Given the description of an element on the screen output the (x, y) to click on. 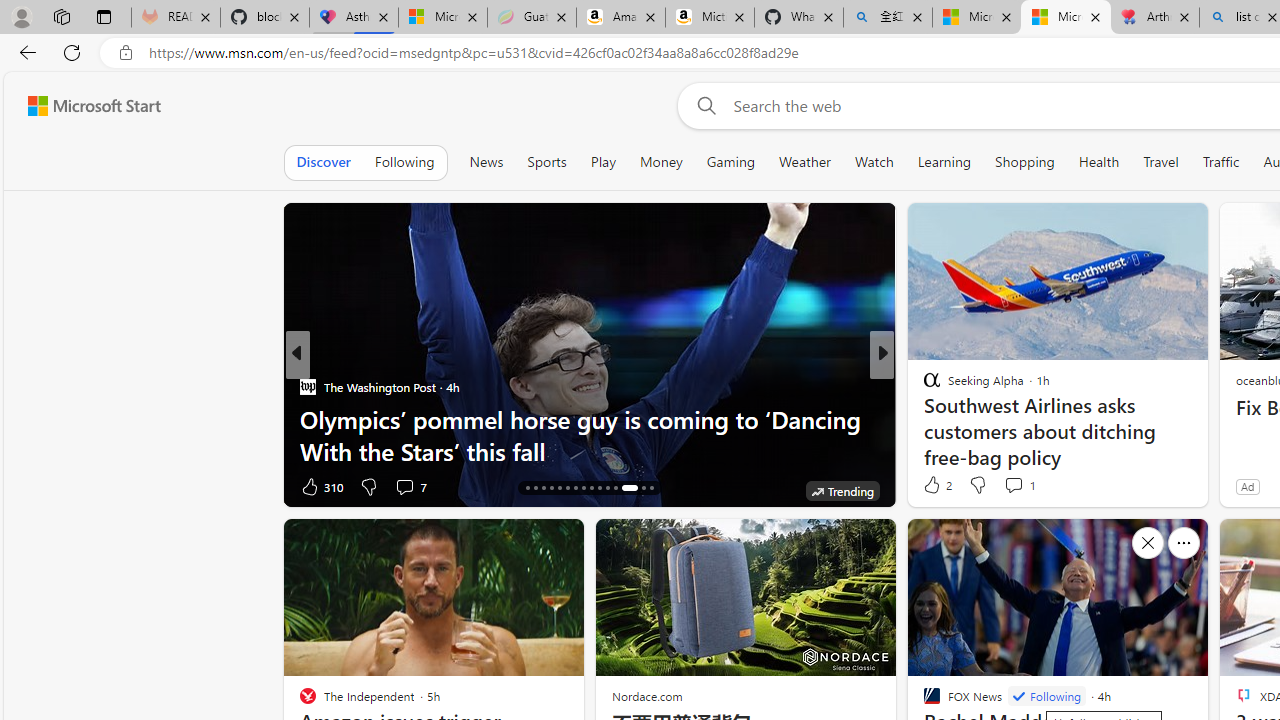
Weather (804, 161)
Shopping (1025, 161)
AutomationID: tab-25 (599, 487)
View comments 1 Comment (1019, 484)
Hide this story (1147, 542)
Arthritis: Ask Health Professionals (1155, 17)
Traffic (1220, 161)
Dislike (976, 484)
AutomationID: tab-28 (623, 487)
Health (1099, 161)
Web search (702, 105)
This story is trending (234, 490)
Skip to footer (82, 105)
